Given the description of an element on the screen output the (x, y) to click on. 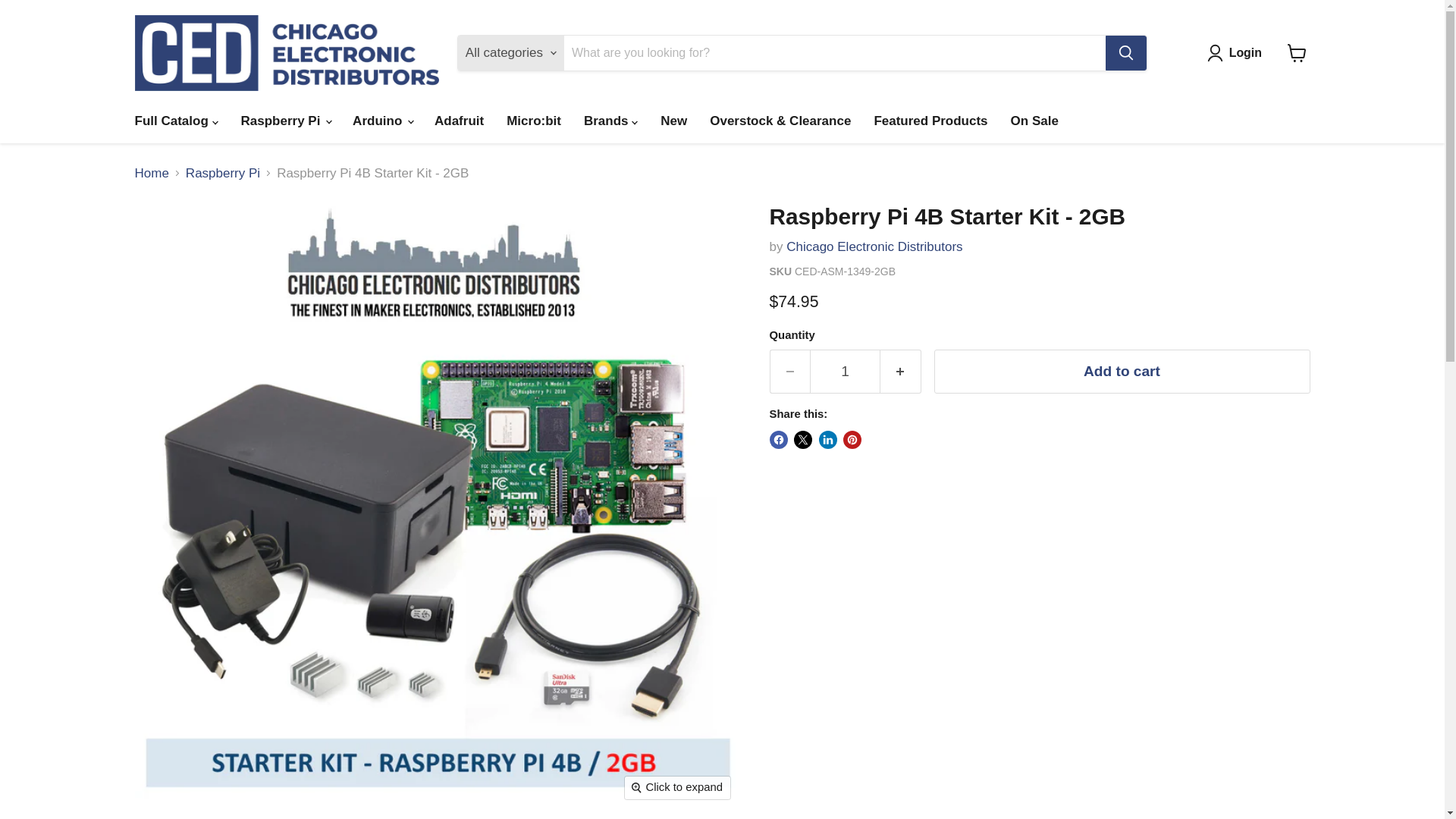
1 (844, 371)
Login (1237, 53)
Chicago Electronic Distributors (874, 246)
View cart (1296, 52)
